Given the description of an element on the screen output the (x, y) to click on. 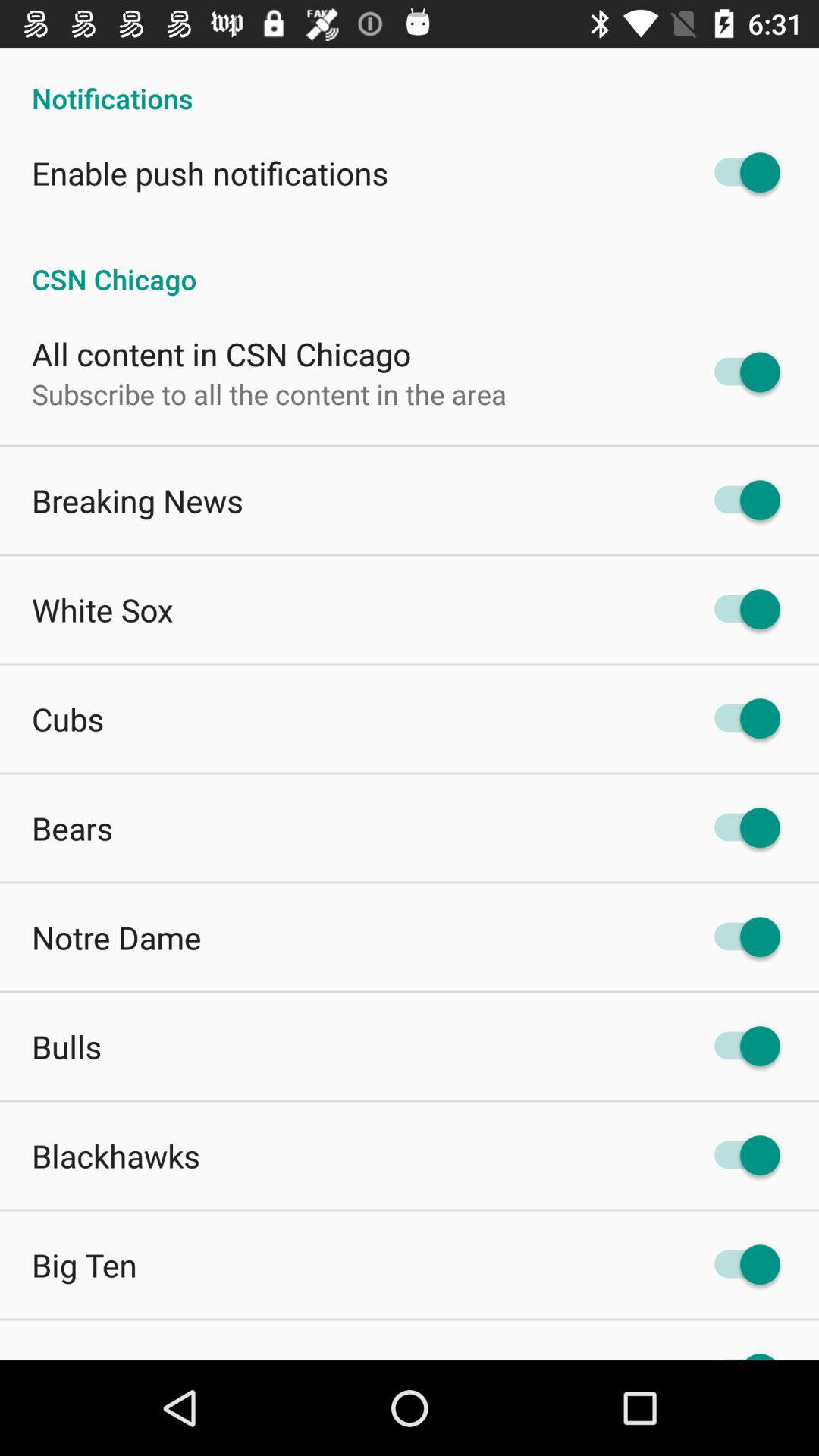
flip until the breaking news item (137, 500)
